Given the description of an element on the screen output the (x, y) to click on. 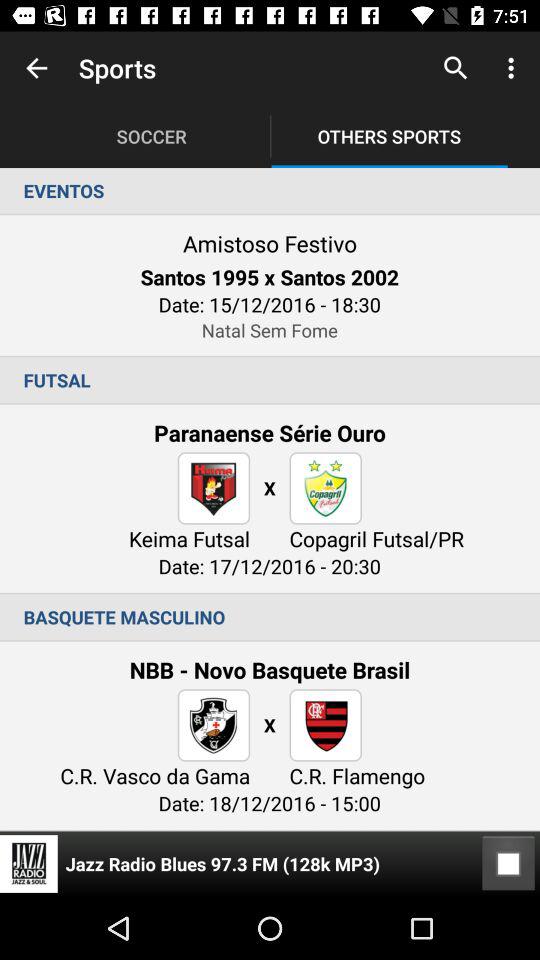
choose icon to the right of the jazz radio blues icon (508, 863)
